Given the description of an element on the screen output the (x, y) to click on. 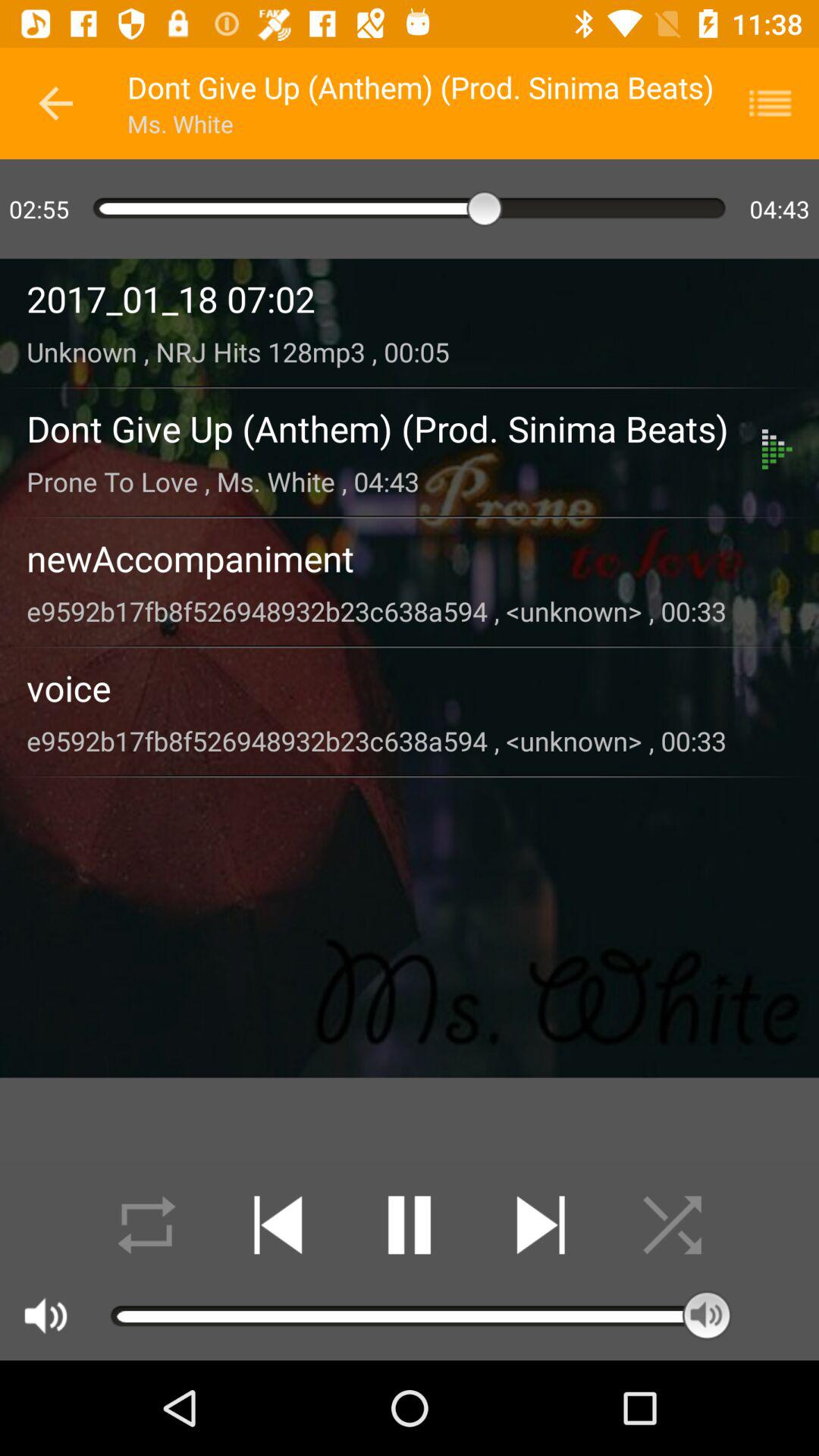
toggle next (540, 1224)
